Given the description of an element on the screen output the (x, y) to click on. 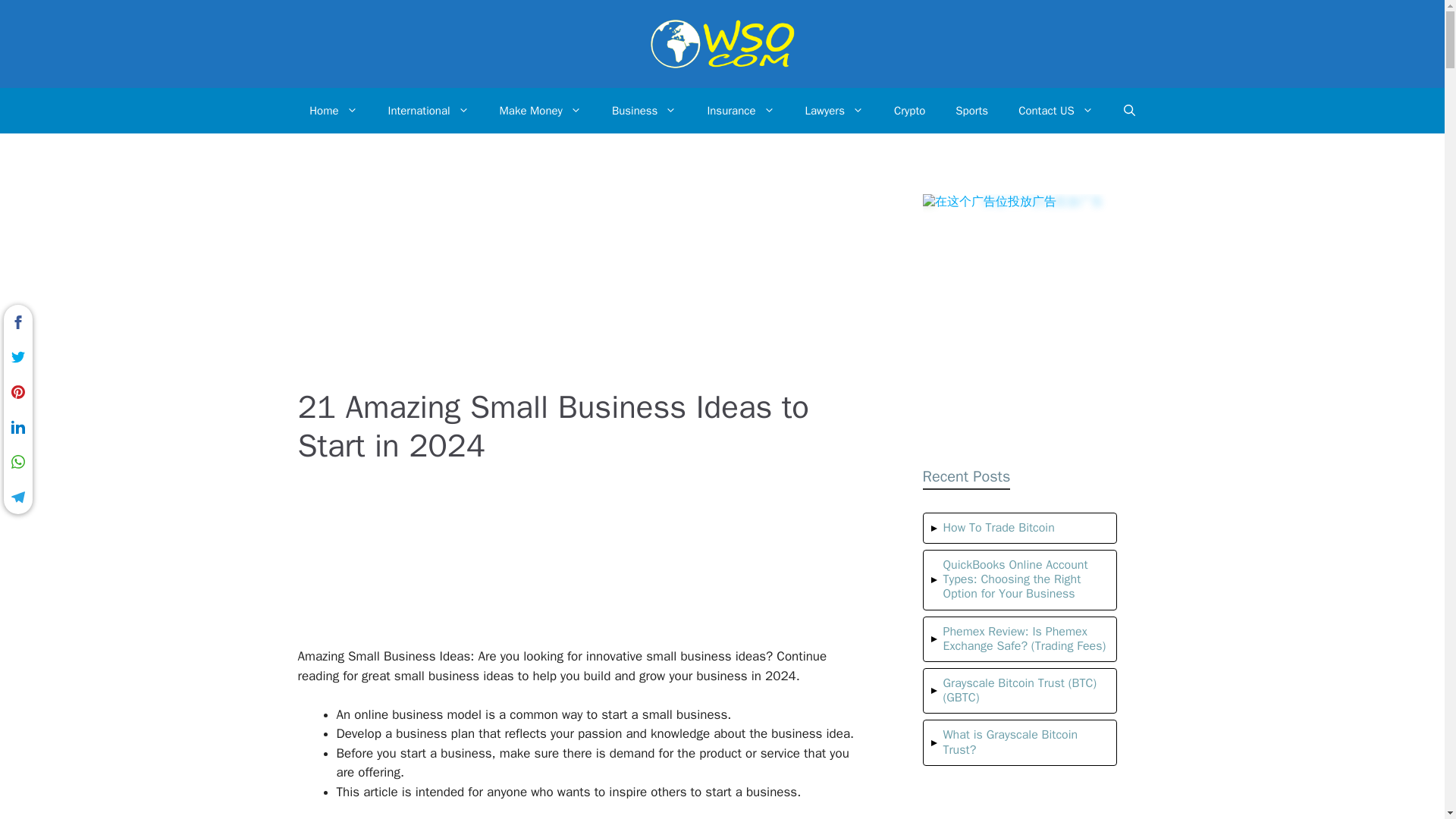
International (428, 110)
Business (644, 110)
Insurance (740, 110)
Home (333, 110)
Make Money (540, 110)
Advertisement (597, 565)
Advertisement (597, 275)
